Given the description of an element on the screen output the (x, y) to click on. 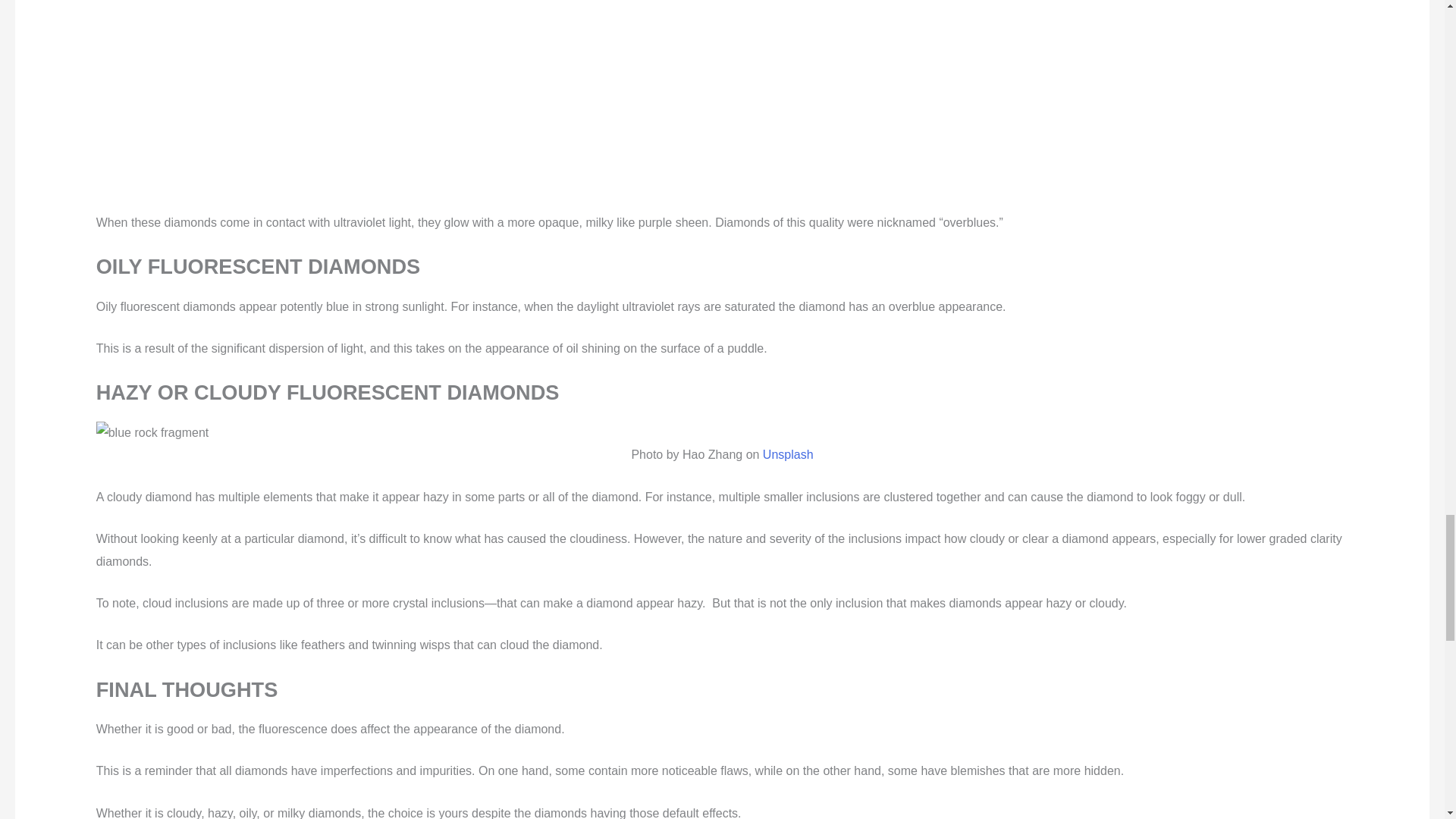
Unsplash (785, 454)
